Given the description of an element on the screen output the (x, y) to click on. 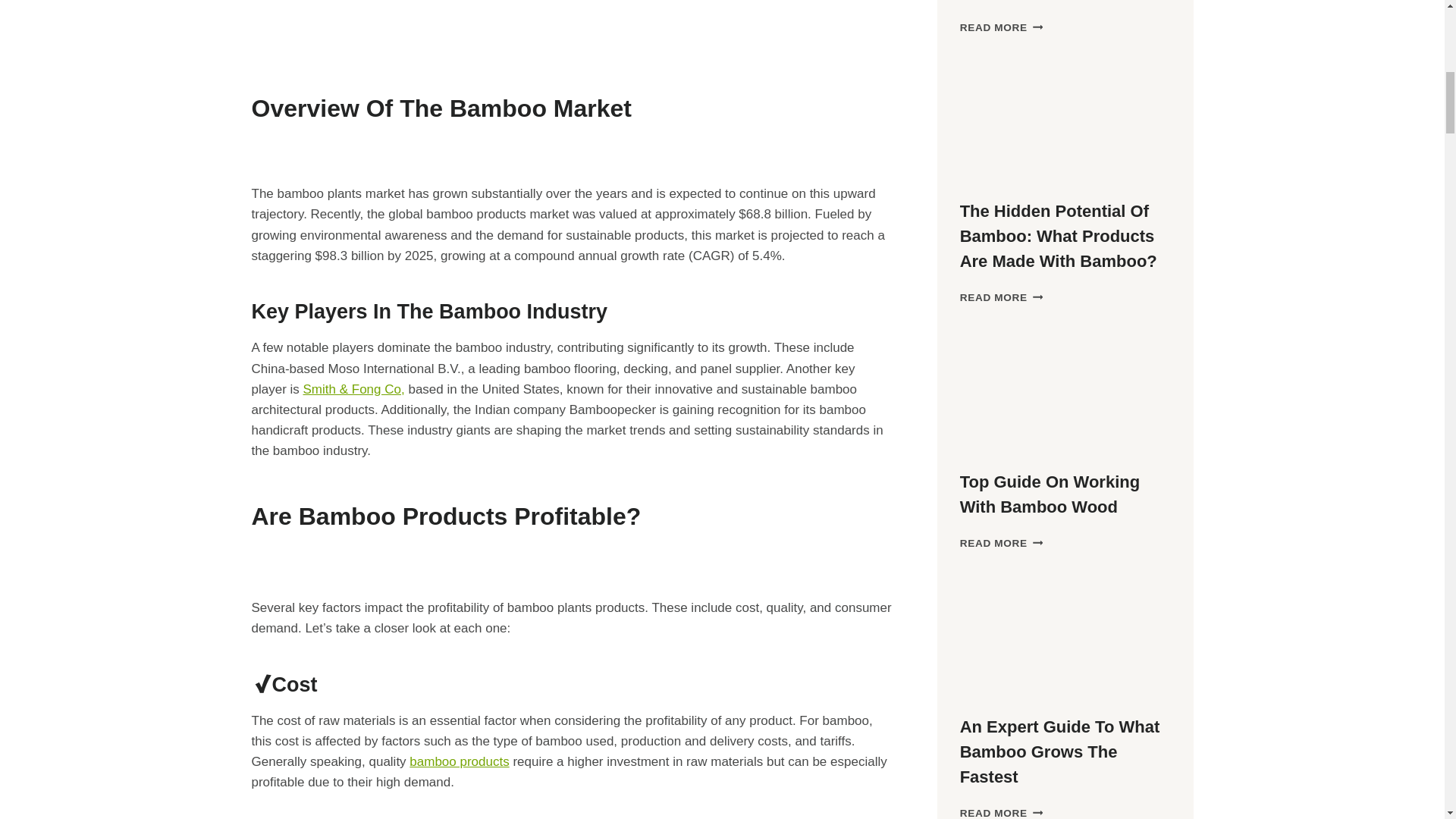
Advertisement (571, 27)
